Given the description of an element on the screen output the (x, y) to click on. 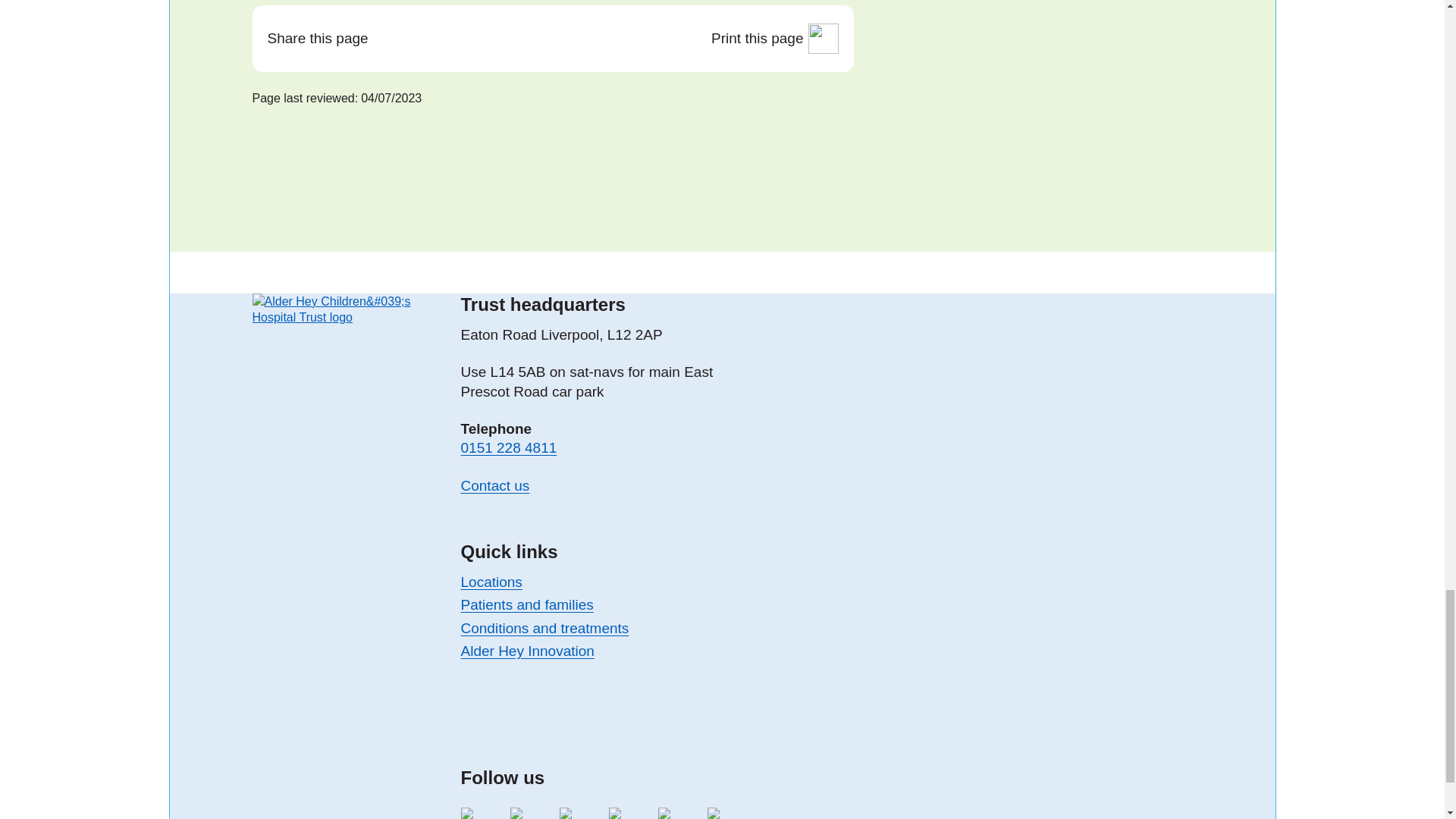
Share on Facebook (437, 38)
Share via Email (476, 38)
Share on Twitter (398, 38)
